Given the description of an element on the screen output the (x, y) to click on. 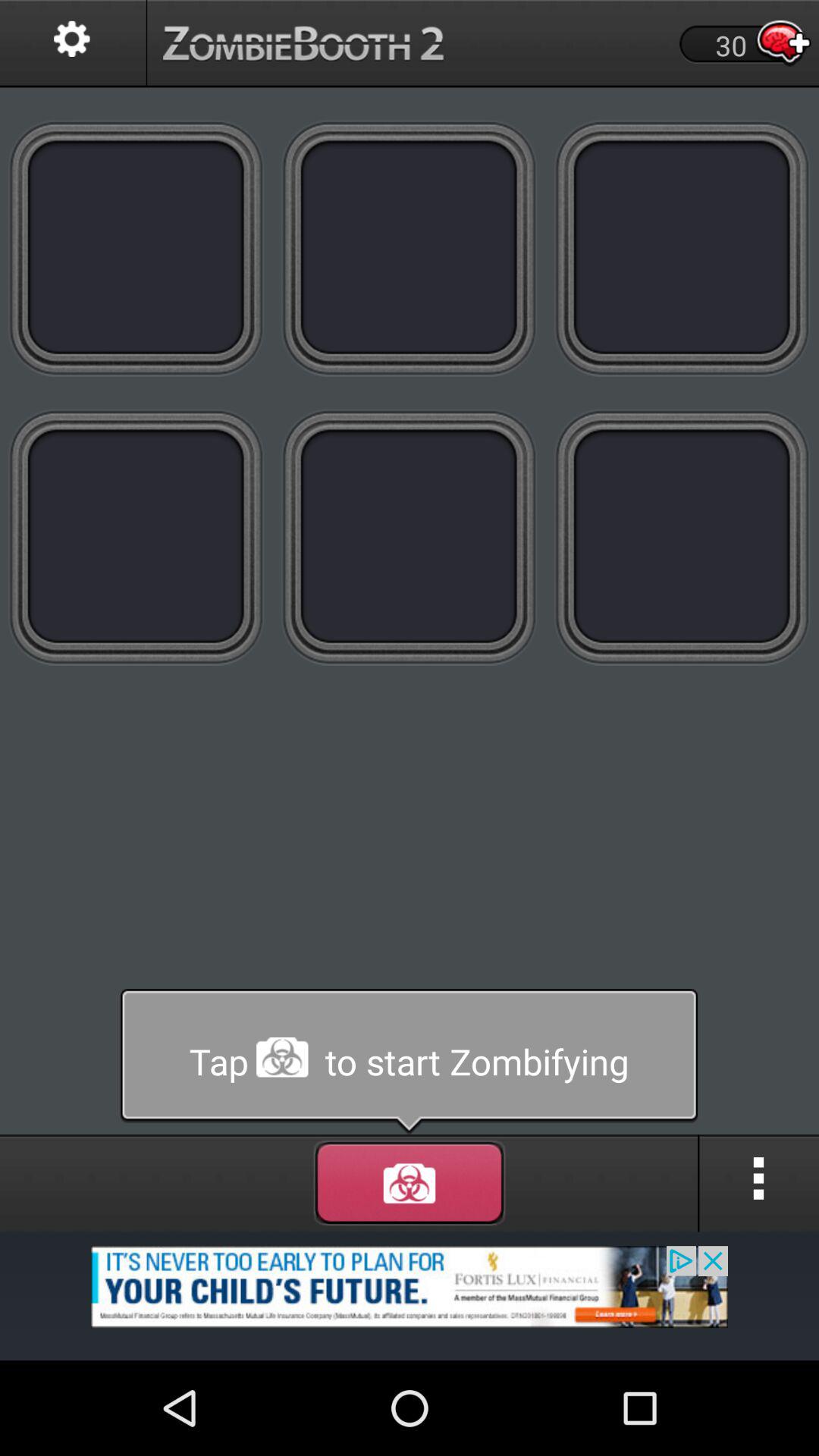
saved slots (136, 536)
